Given the description of an element on the screen output the (x, y) to click on. 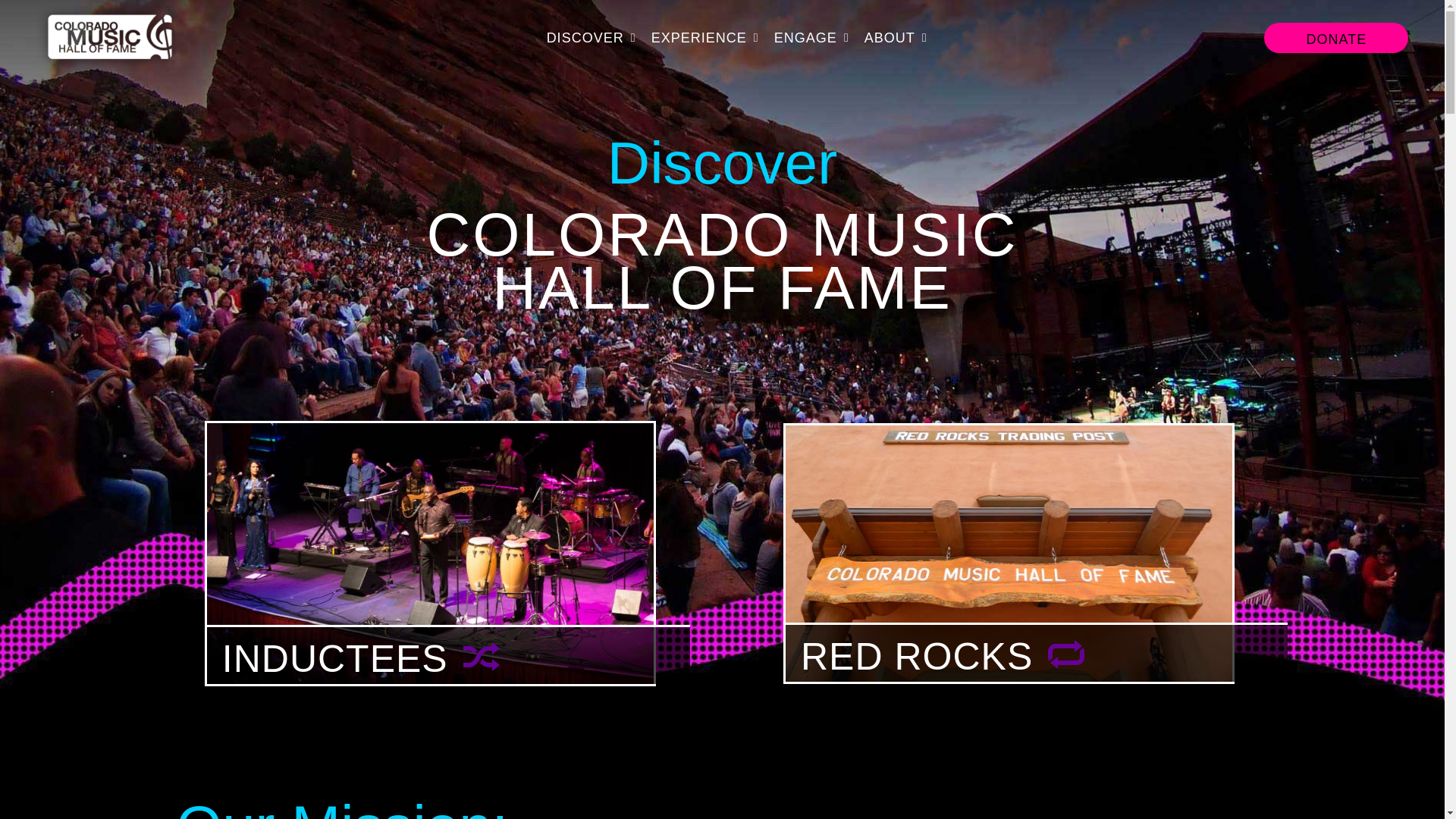
EXPERIENCE (704, 38)
icon replay (1066, 654)
INDUCTEES (429, 553)
DISCOVER (591, 38)
DONATE (1335, 37)
icon random (481, 656)
ENGAGE (811, 38)
ABOUT (895, 38)
